Given the description of an element on the screen output the (x, y) to click on. 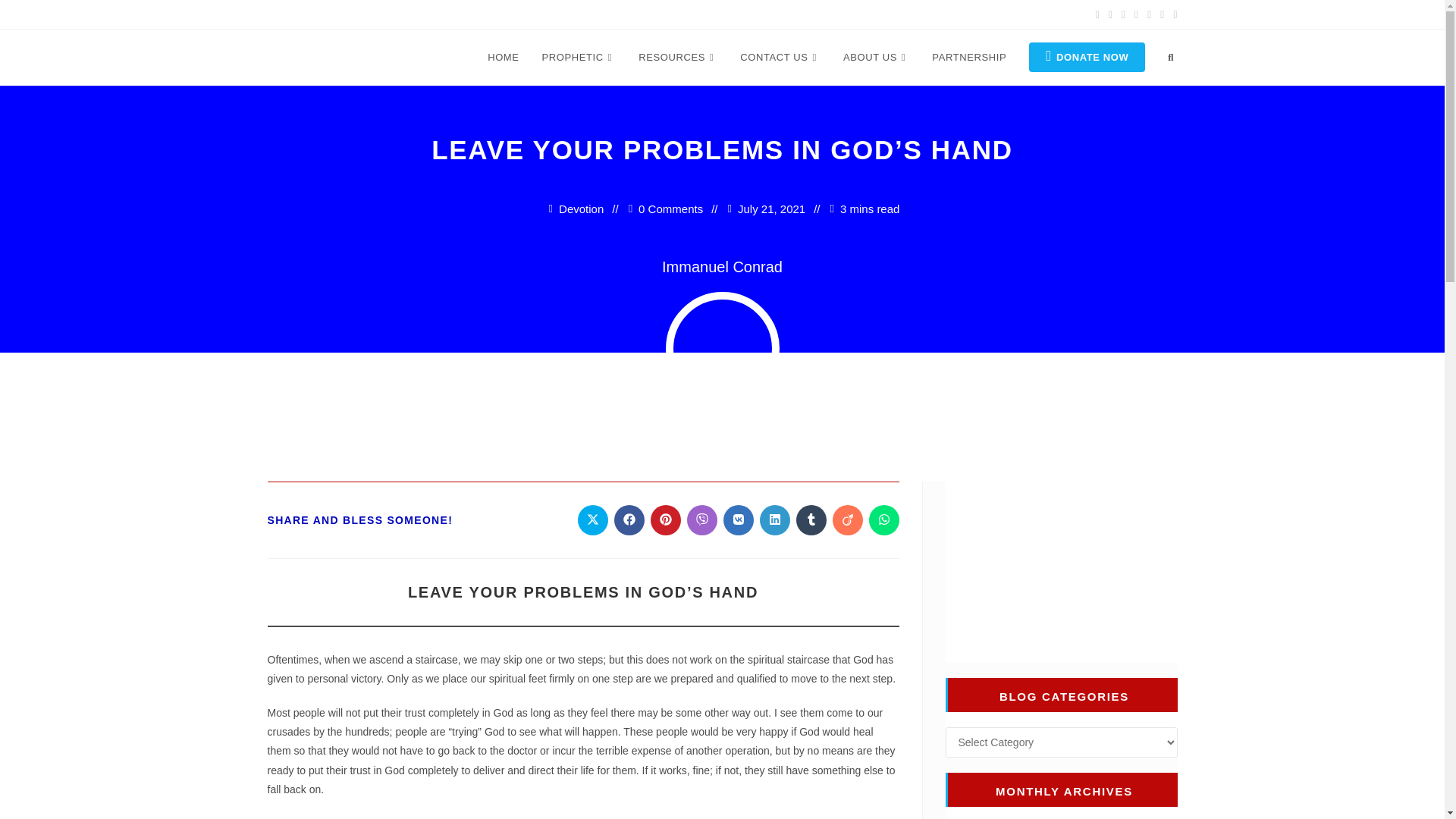
RESOURCES (678, 57)
Power Podcast (1060, 569)
WELCOME TO IMMANUEL CONRAD MINISTRIES (502, 57)
LEARN MORE ABOUT US (875, 57)
HELP US SPREAD THE GOSPEL WITH YOUR DONATIONS (1086, 57)
HOME (502, 57)
SEND AN EMAIL (397, 13)
RESOURCES (678, 57)
TALK TO US (780, 57)
PARTNERSHIP (968, 57)
